Given the description of an element on the screen output the (x, y) to click on. 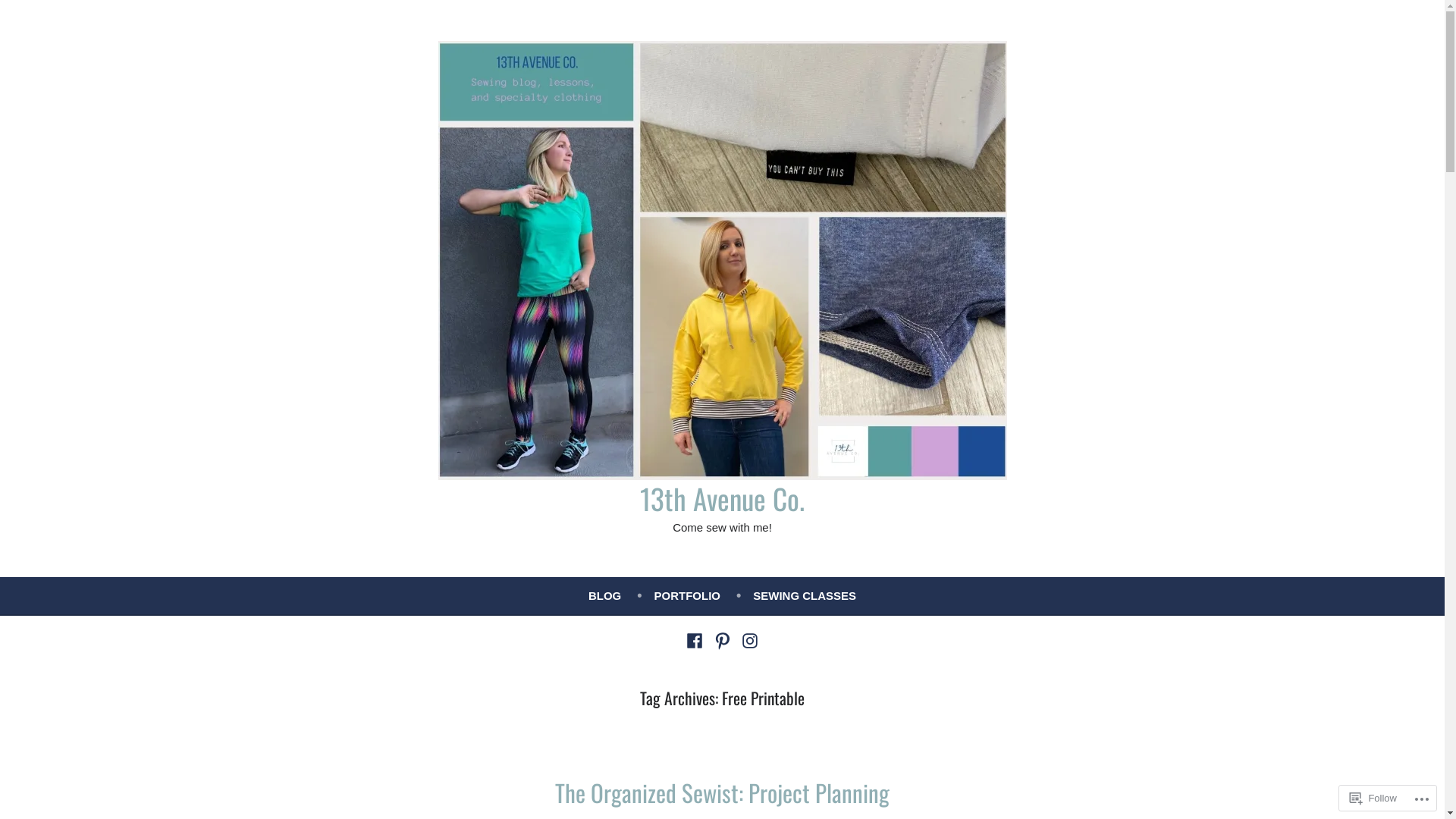
BLOG Element type: text (621, 595)
SEWING CLASSES Element type: text (804, 595)
Follow Element type: text (1372, 797)
The Organized Sewist: Project Planning Element type: text (722, 792)
13th Avenue Co. Element type: text (722, 497)
PORTFOLIO Element type: text (703, 595)
